Given the description of an element on the screen output the (x, y) to click on. 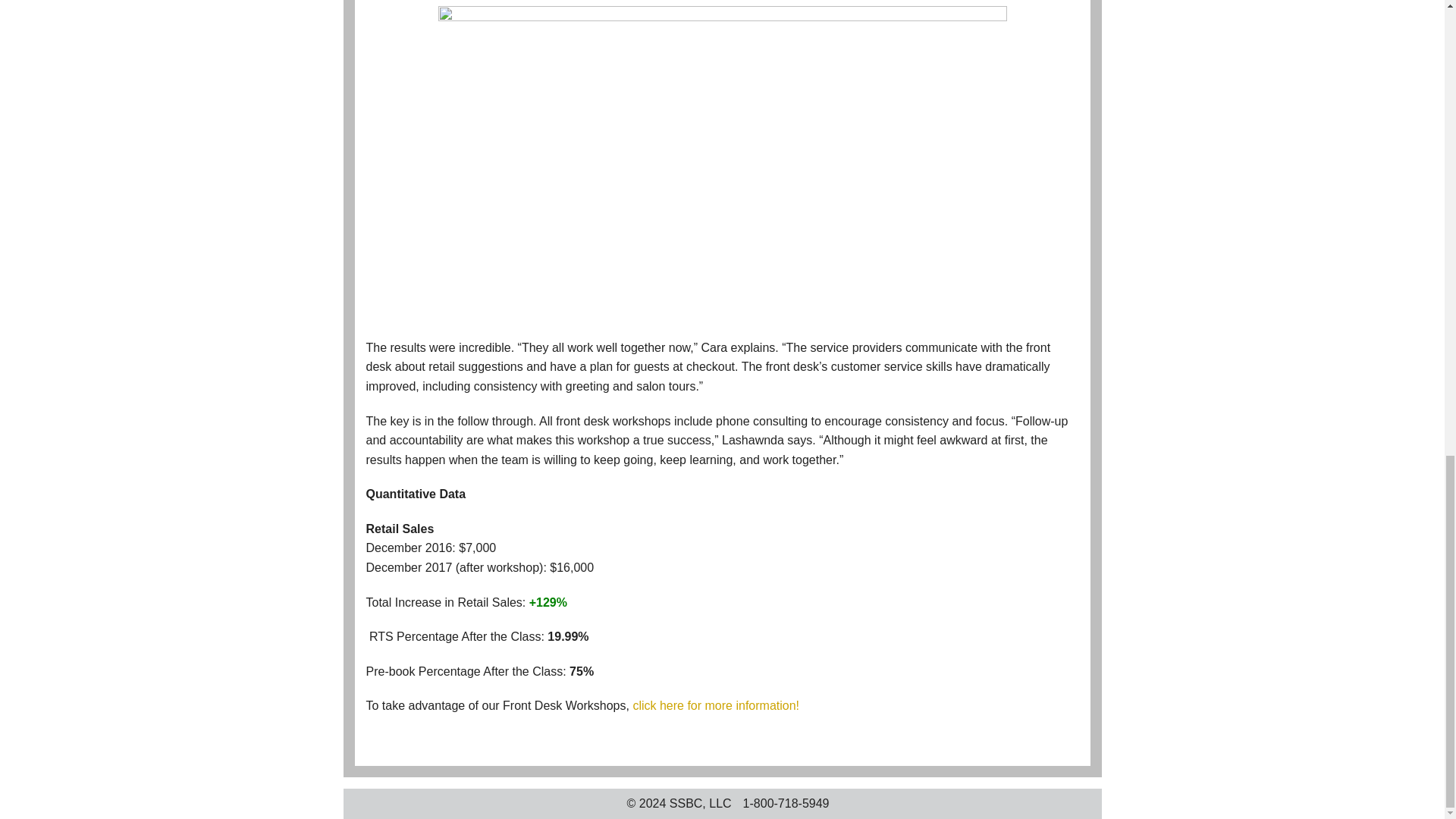
click here for more information! (715, 705)
